Given the description of an element on the screen output the (x, y) to click on. 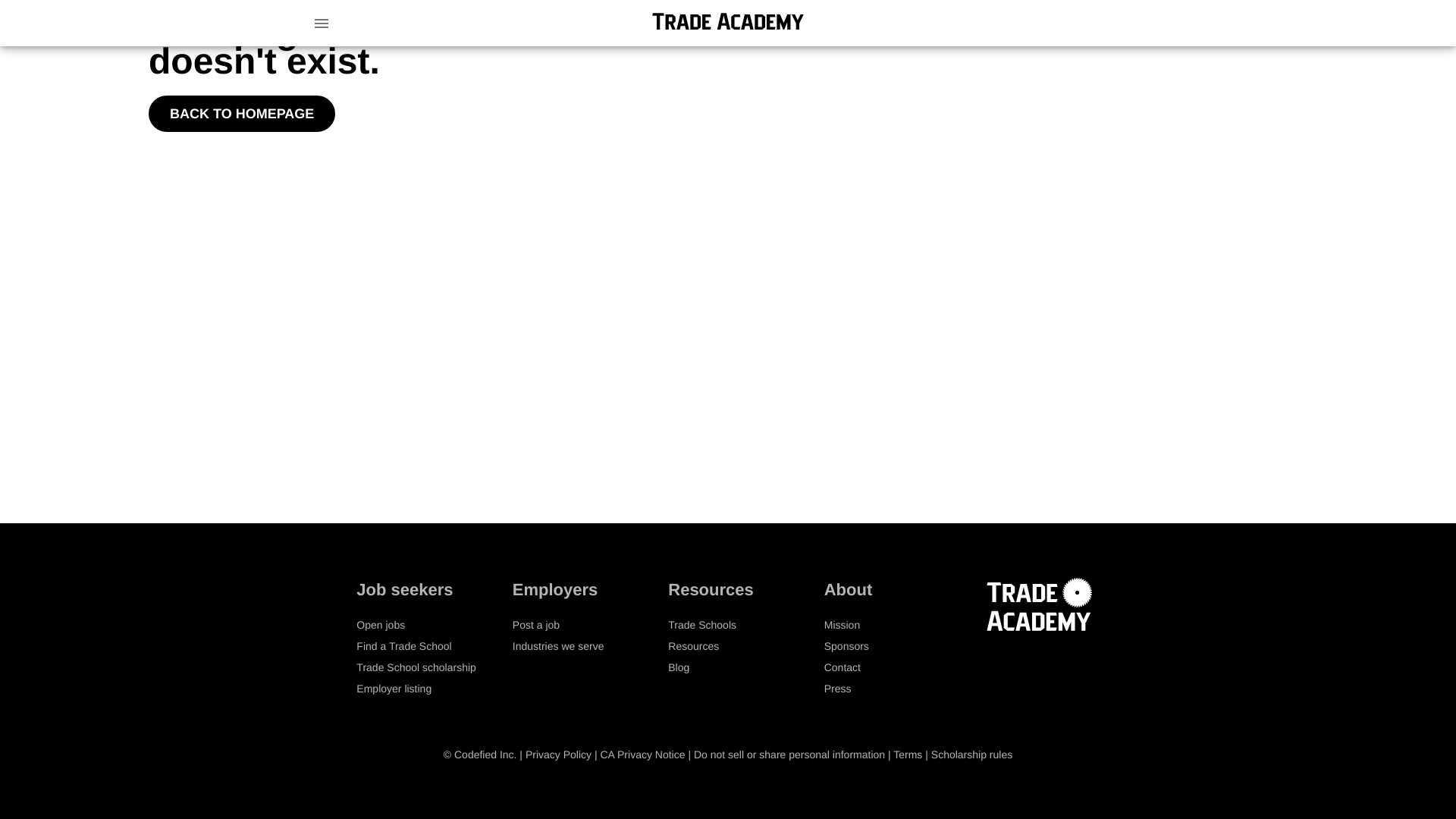
Post a job (535, 624)
Contact (842, 666)
Resources (693, 645)
Privacy Policy (558, 754)
Blog (678, 666)
Sponsors (846, 645)
Press (837, 688)
BACK TO HOMEPAGE (241, 113)
Open jobs (380, 624)
Industries we serve (558, 645)
